Given the description of an element on the screen output the (x, y) to click on. 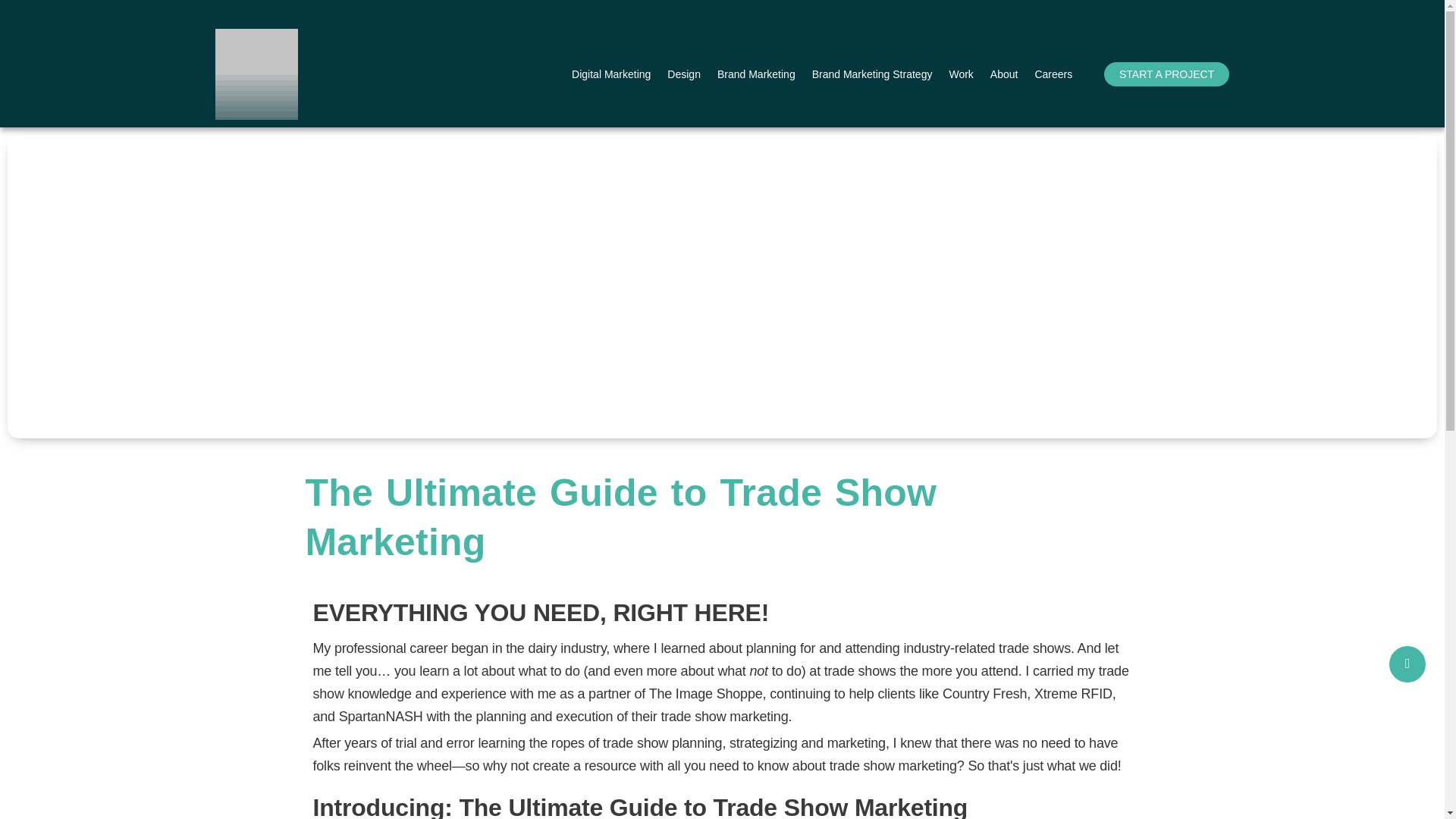
Brand Marketing (755, 74)
Careers (1052, 74)
Back to top (1407, 664)
About (1003, 74)
Digital Marketing (611, 74)
Work (960, 74)
Design (683, 74)
Brand Marketing Strategy (872, 74)
START A PROJECT (1165, 74)
